Given the description of an element on the screen output the (x, y) to click on. 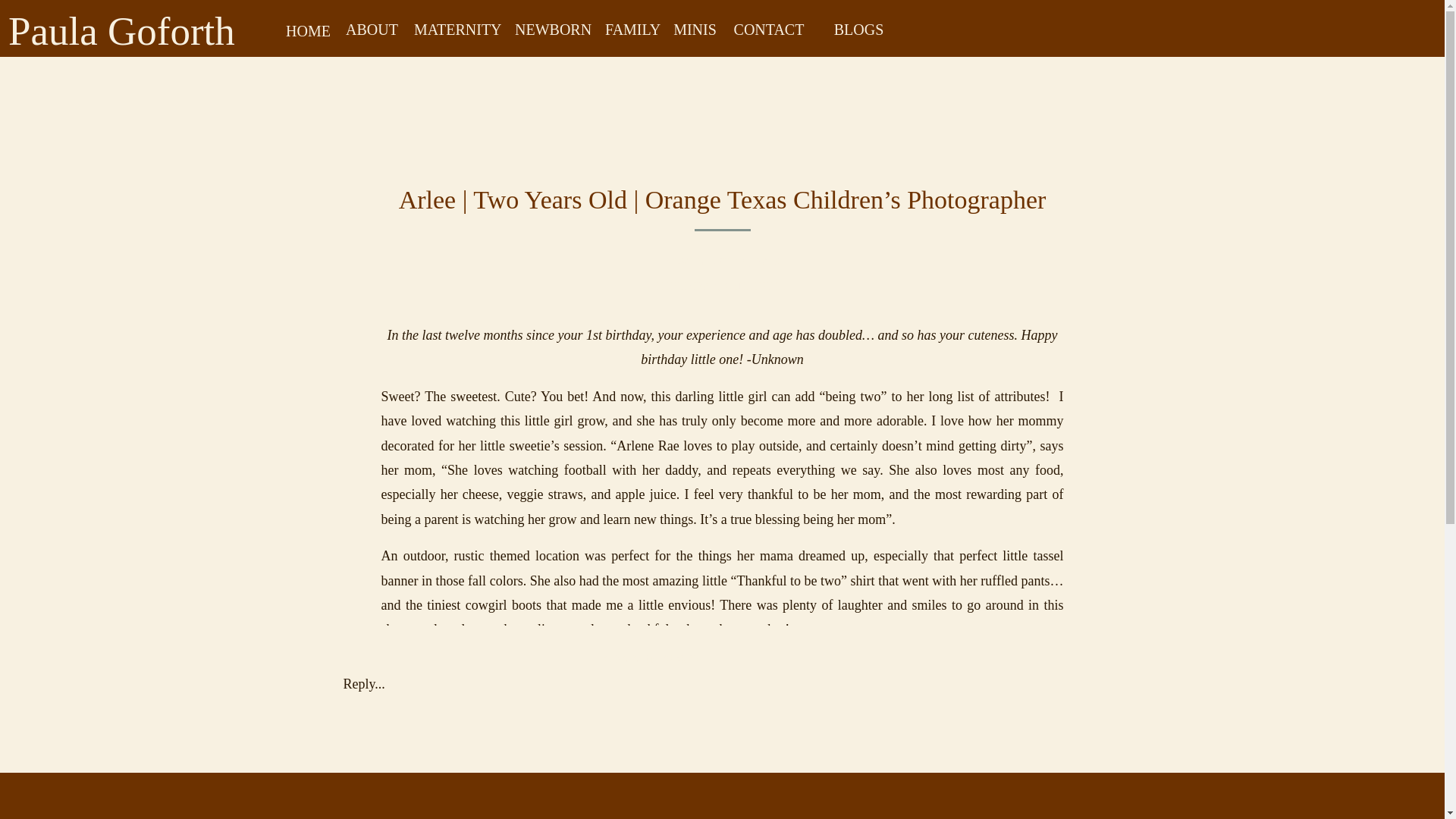
MINIS (694, 27)
NEWBORN (551, 27)
BIRTHDAY (687, 285)
MATERNITY (456, 27)
ABOUT (371, 27)
FAMILY (631, 27)
CHILDREN (756, 285)
HOME (307, 29)
BLOGS (858, 27)
CONTACT (769, 27)
